Given the description of an element on the screen output the (x, y) to click on. 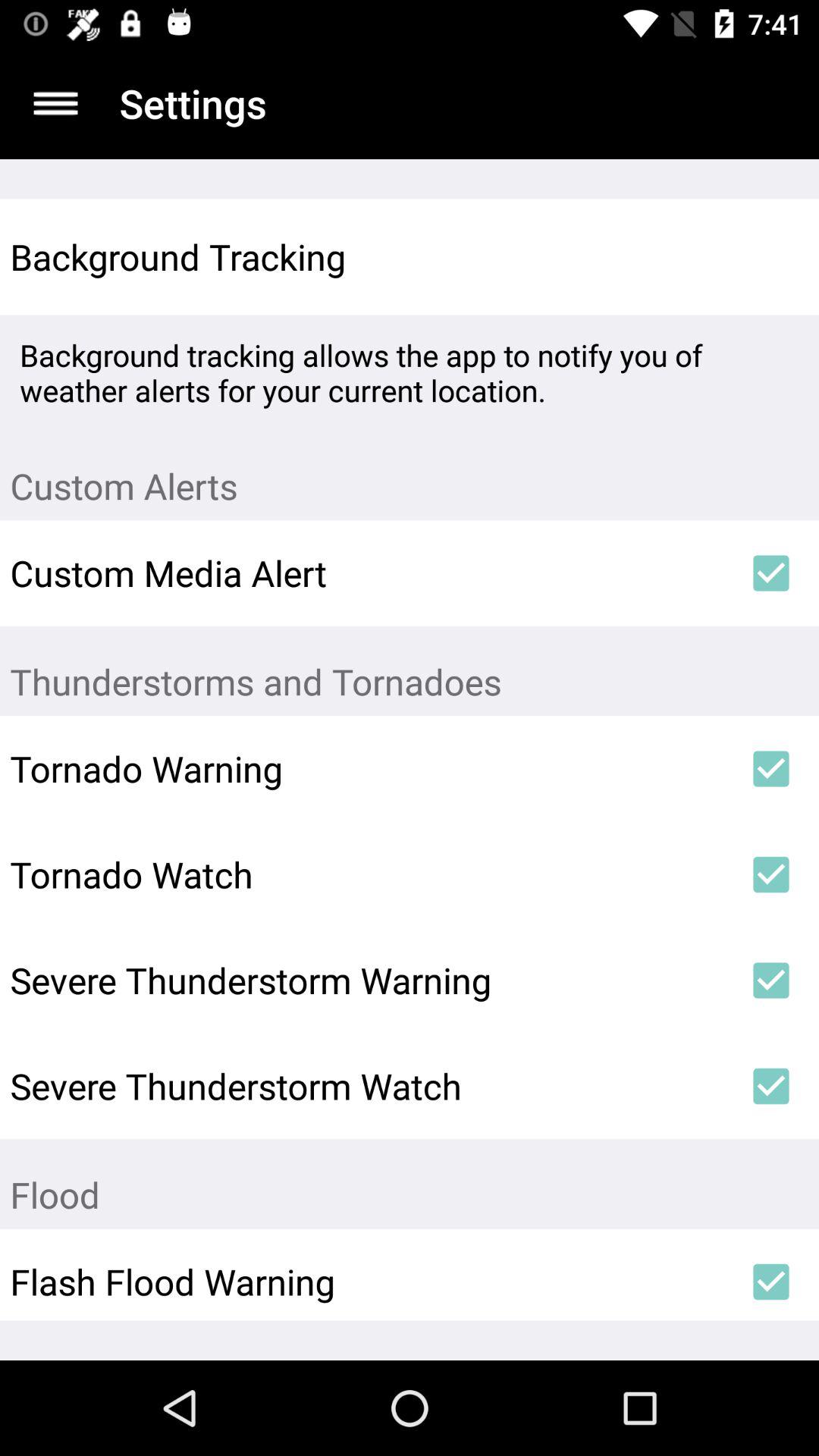
click item above the background tracking allows icon (771, 256)
